Given the description of an element on the screen output the (x, y) to click on. 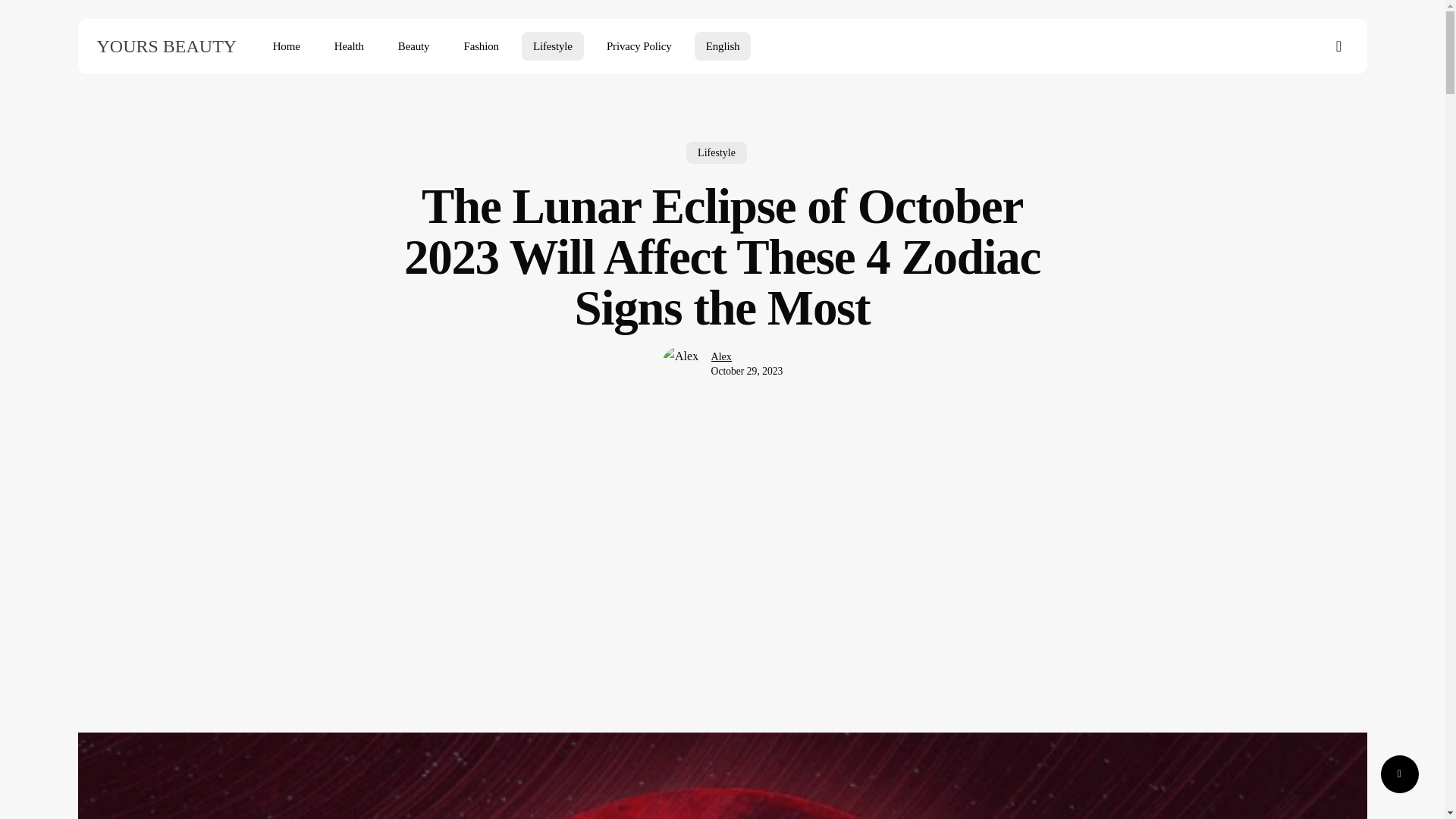
Privacy Policy (638, 45)
search (1339, 45)
Alex (721, 369)
Lifestyle (715, 157)
Health (349, 45)
English (722, 45)
Beauty (414, 45)
Home (286, 45)
English (722, 45)
Lifestyle (552, 45)
